Given the description of an element on the screen output the (x, y) to click on. 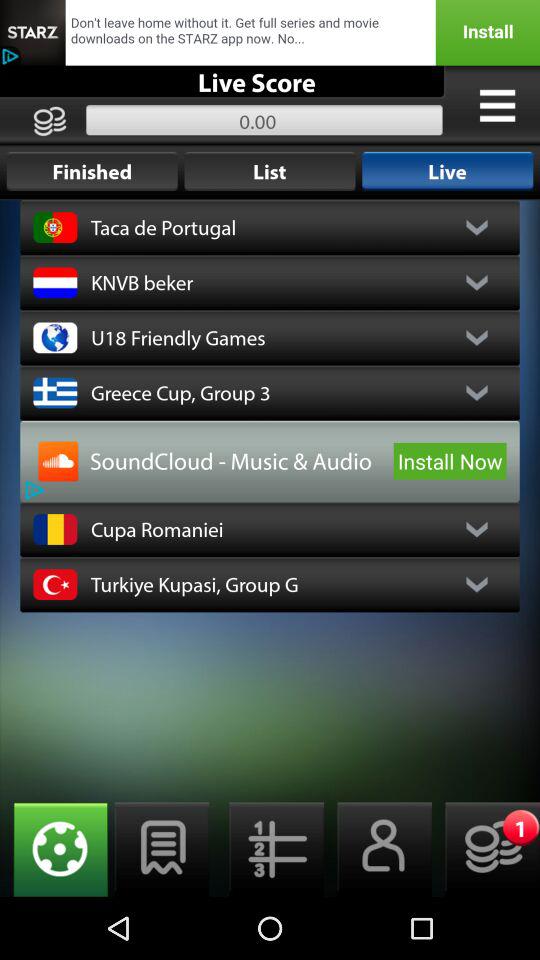
go to advertisement (58, 461)
